Given the description of an element on the screen output the (x, y) to click on. 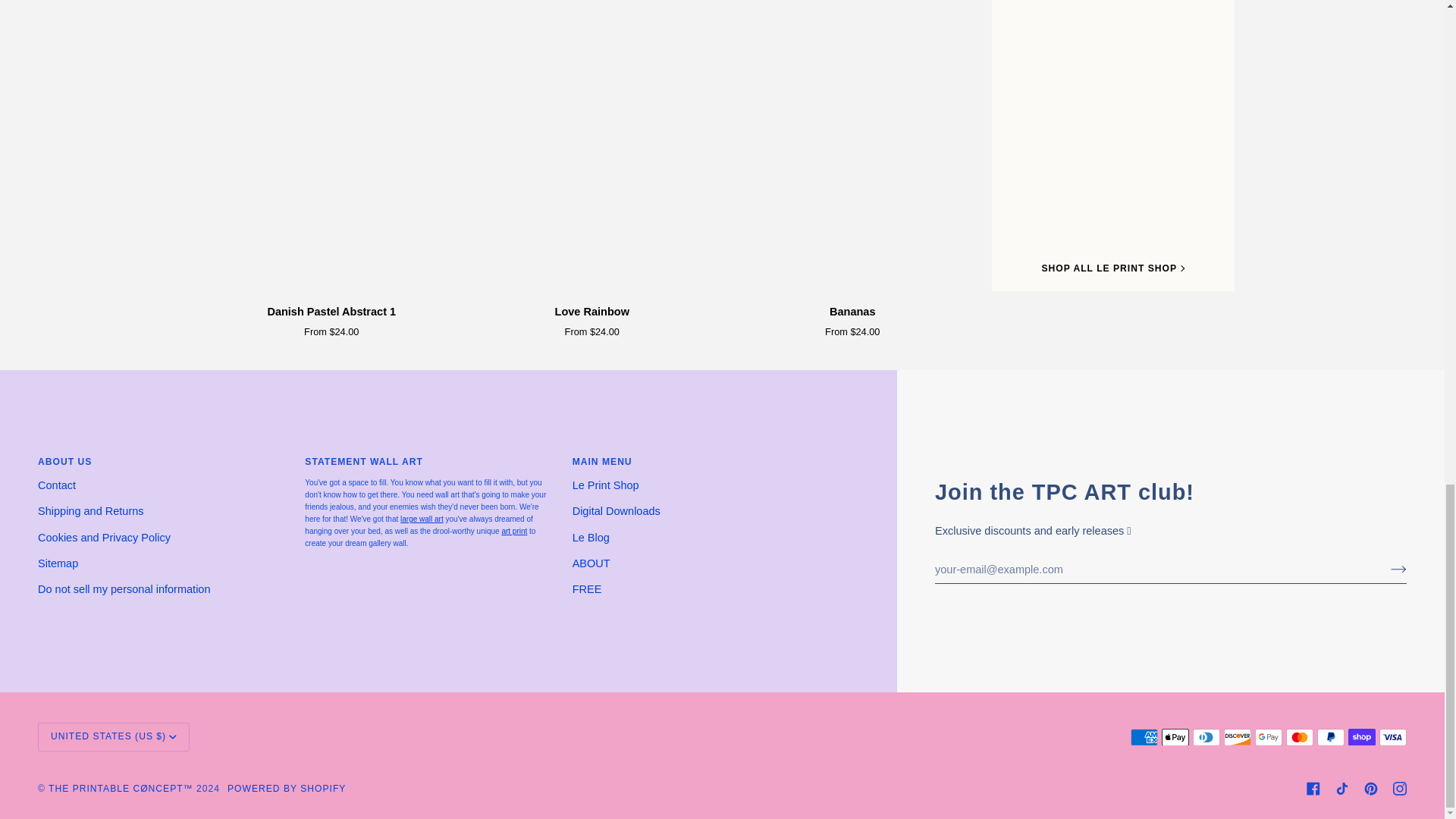
Danish Pastel Aesthetics Art Prints (513, 531)
Tiktok (1342, 788)
PAYPAL (1330, 737)
Facebook (1313, 788)
Le PRINT SHOP (422, 519)
VISA (1392, 737)
DISCOVER (1237, 737)
Pinterest (1370, 788)
GOOGLE PAY (1268, 737)
SHOP PAY (1361, 737)
DINERS CLUB (1206, 737)
APPLE PAY (1175, 737)
MASTERCARD (1299, 737)
Instagram (1399, 788)
AMERICAN EXPRESS (1144, 737)
